Given the description of an element on the screen output the (x, y) to click on. 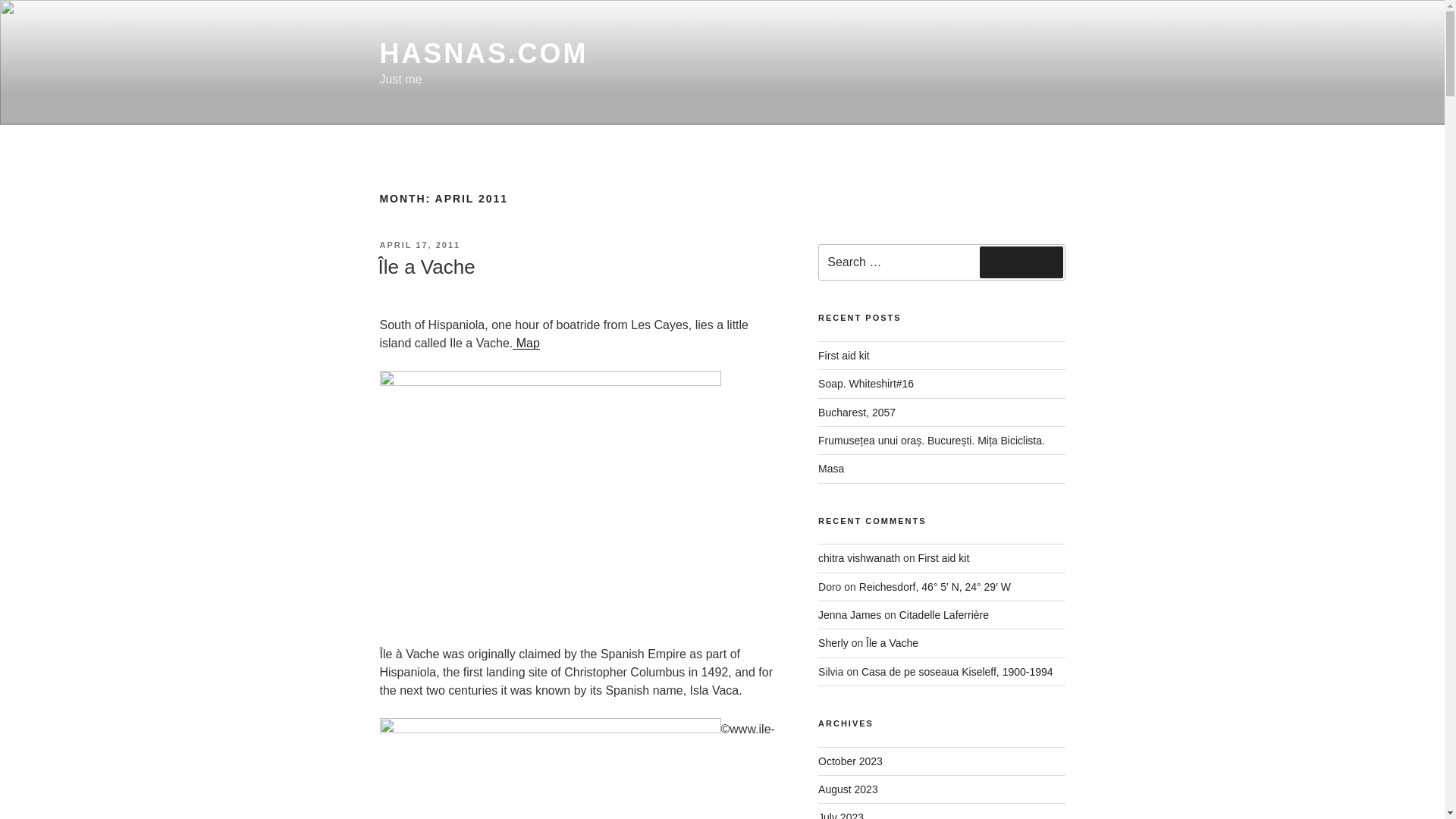
First aid kit (843, 355)
Bucharest, 2057 (856, 412)
First aid kit (943, 558)
Masa (831, 468)
Jenna James (849, 614)
chitra vishwanath (858, 558)
October 2023 (850, 761)
Sherly (833, 643)
Casa de pe soseaua Kiseleff, 1900-1994 (956, 671)
August 2023 (847, 788)
APRIL 17, 2011 (419, 244)
Search (1020, 262)
HASNAS.COM (483, 52)
Map (526, 342)
July 2023 (840, 815)
